Given the description of an element on the screen output the (x, y) to click on. 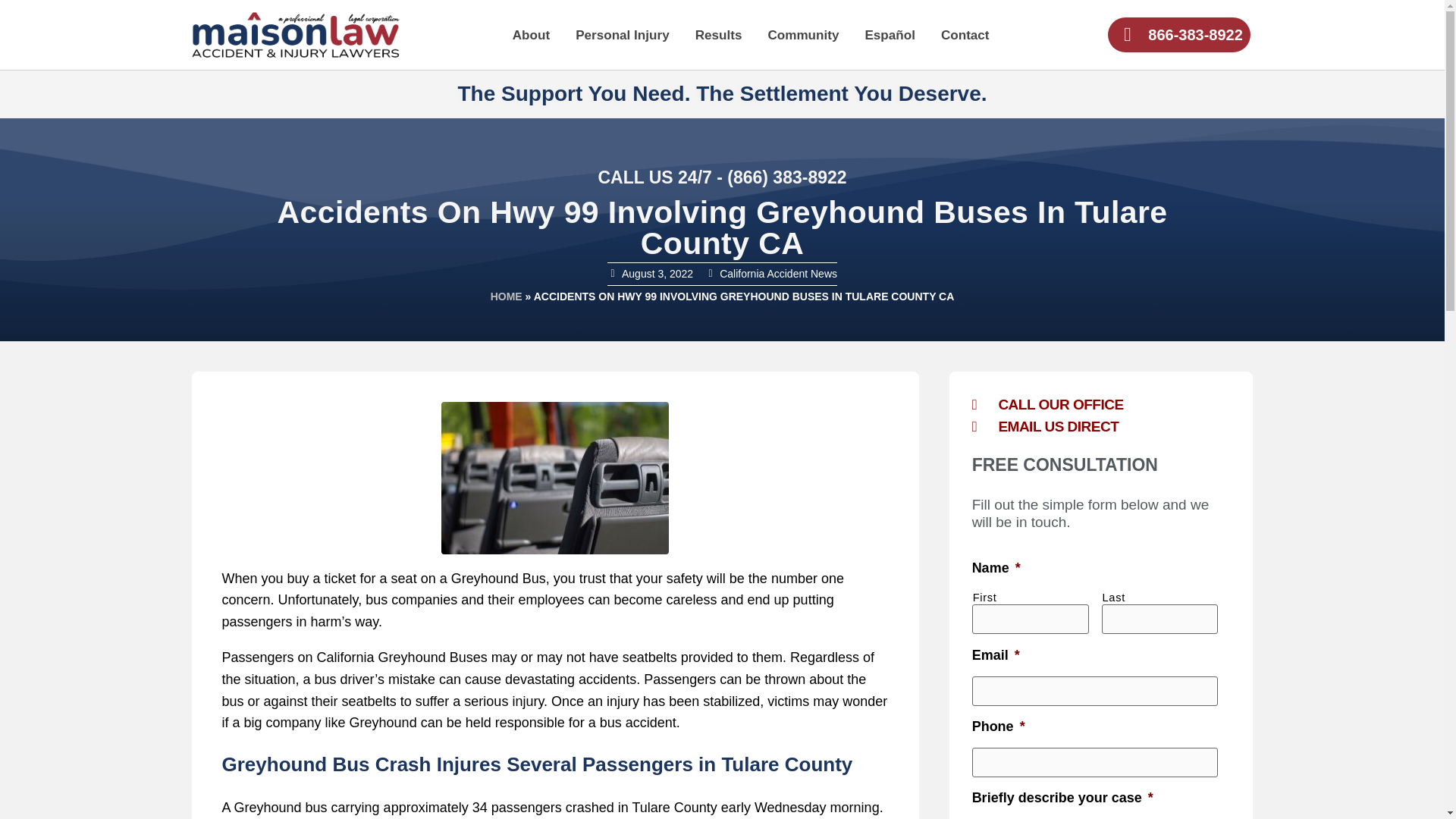
866-383-8922 (1179, 35)
HOME (506, 296)
Contact (964, 35)
August 3, 2022 (650, 273)
Community (802, 35)
EMAIL US DIRECT (1101, 426)
About (531, 35)
CALL OUR OFFICE (1101, 404)
Results (718, 35)
California Accident News (778, 273)
